Given the description of an element on the screen output the (x, y) to click on. 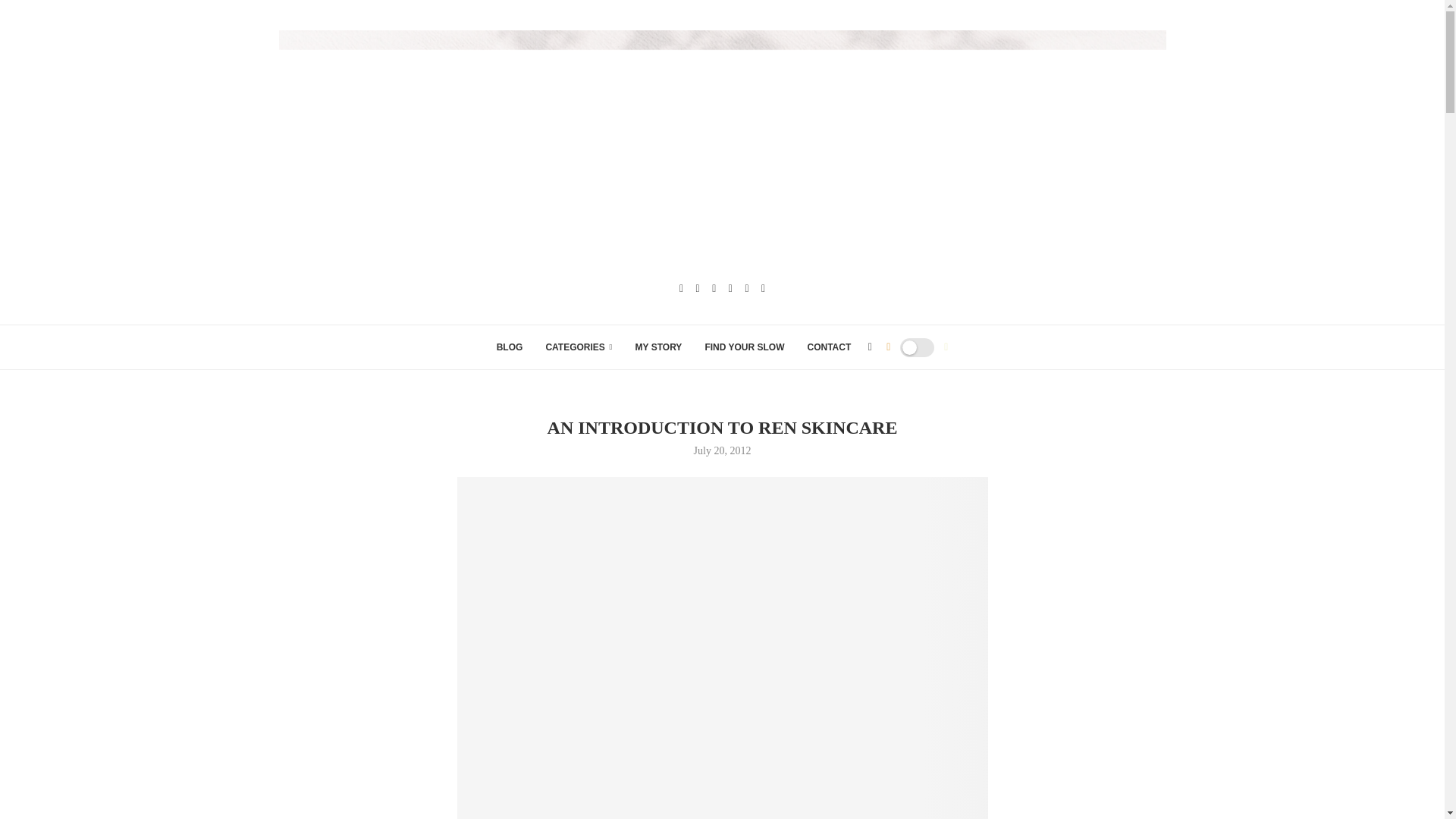
CONTACT (828, 347)
MY STORY (658, 347)
FIND YOUR SLOW (744, 347)
CATEGORIES (577, 347)
